Given the description of an element on the screen output the (x, y) to click on. 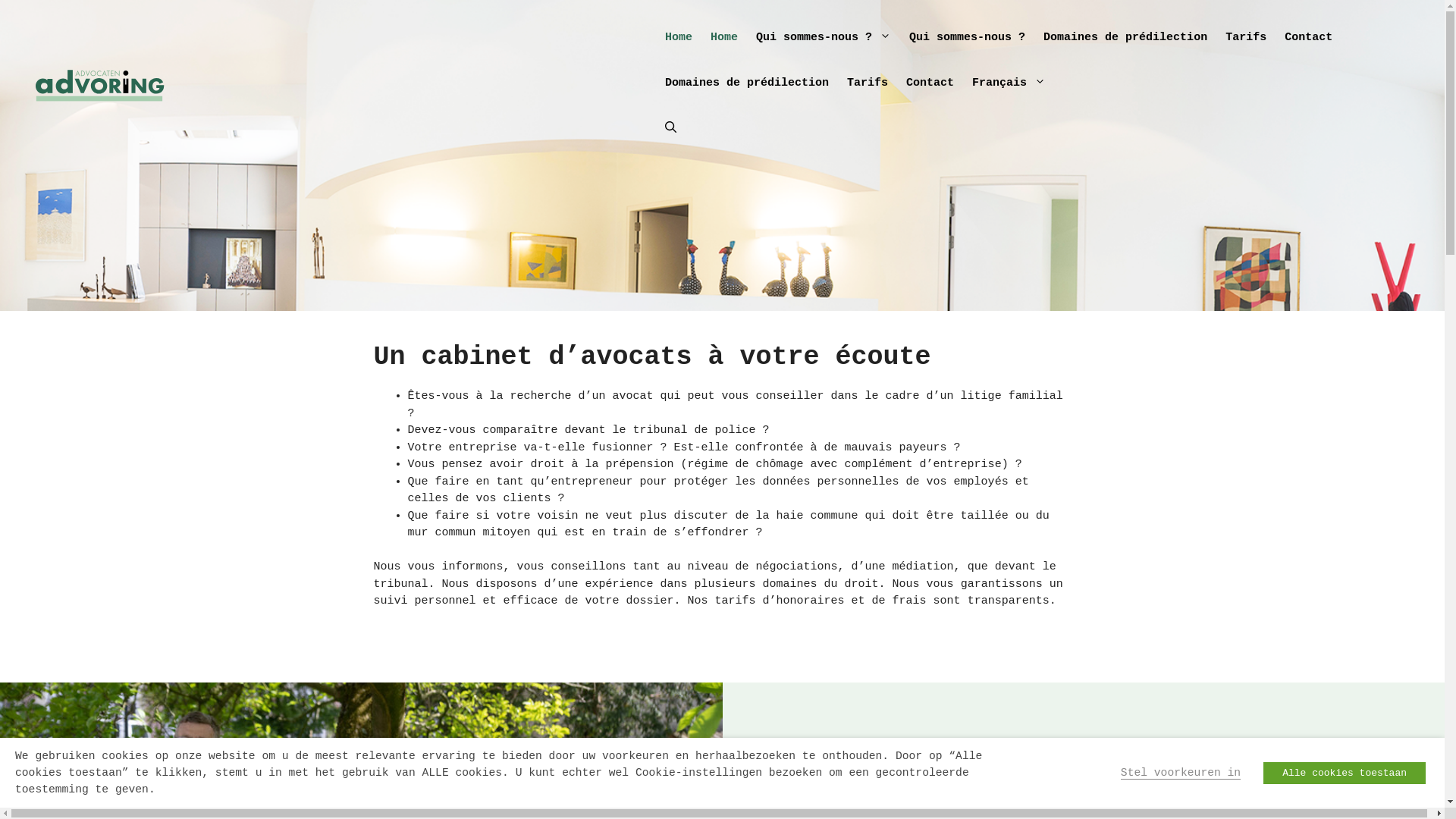
Tarifs Element type: text (1245, 37)
Qui sommes-nous ? Element type: text (967, 37)
Qui sommes-nous ? Element type: text (823, 37)
Alle cookies toestaan Element type: text (1344, 772)
Home Element type: text (723, 37)
Stel voorkeuren in Element type: text (1180, 771)
Tarifs Element type: text (867, 83)
Contact Element type: text (930, 83)
Home Element type: text (678, 37)
Contact Element type: text (1308, 37)
